Given the description of an element on the screen output the (x, y) to click on. 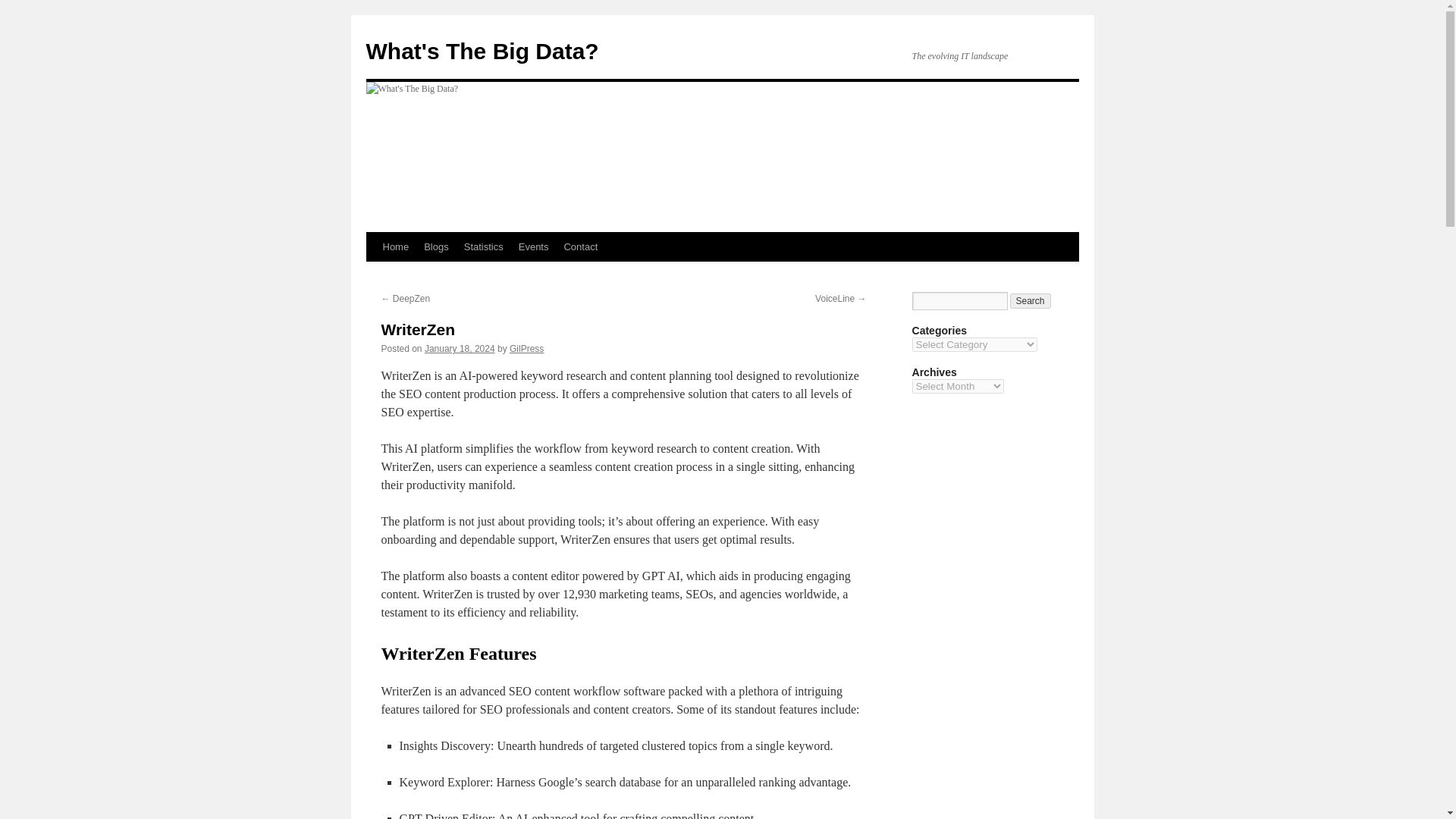
Events (533, 246)
GilPress (526, 348)
Contact (580, 246)
Statistics (484, 246)
9:23 am (460, 348)
Blogs (436, 246)
What's The Big Data? (481, 50)
Home (395, 246)
Search (1030, 300)
View all posts by GilPress (526, 348)
Search (1030, 300)
January 18, 2024 (460, 348)
